Given the description of an element on the screen output the (x, y) to click on. 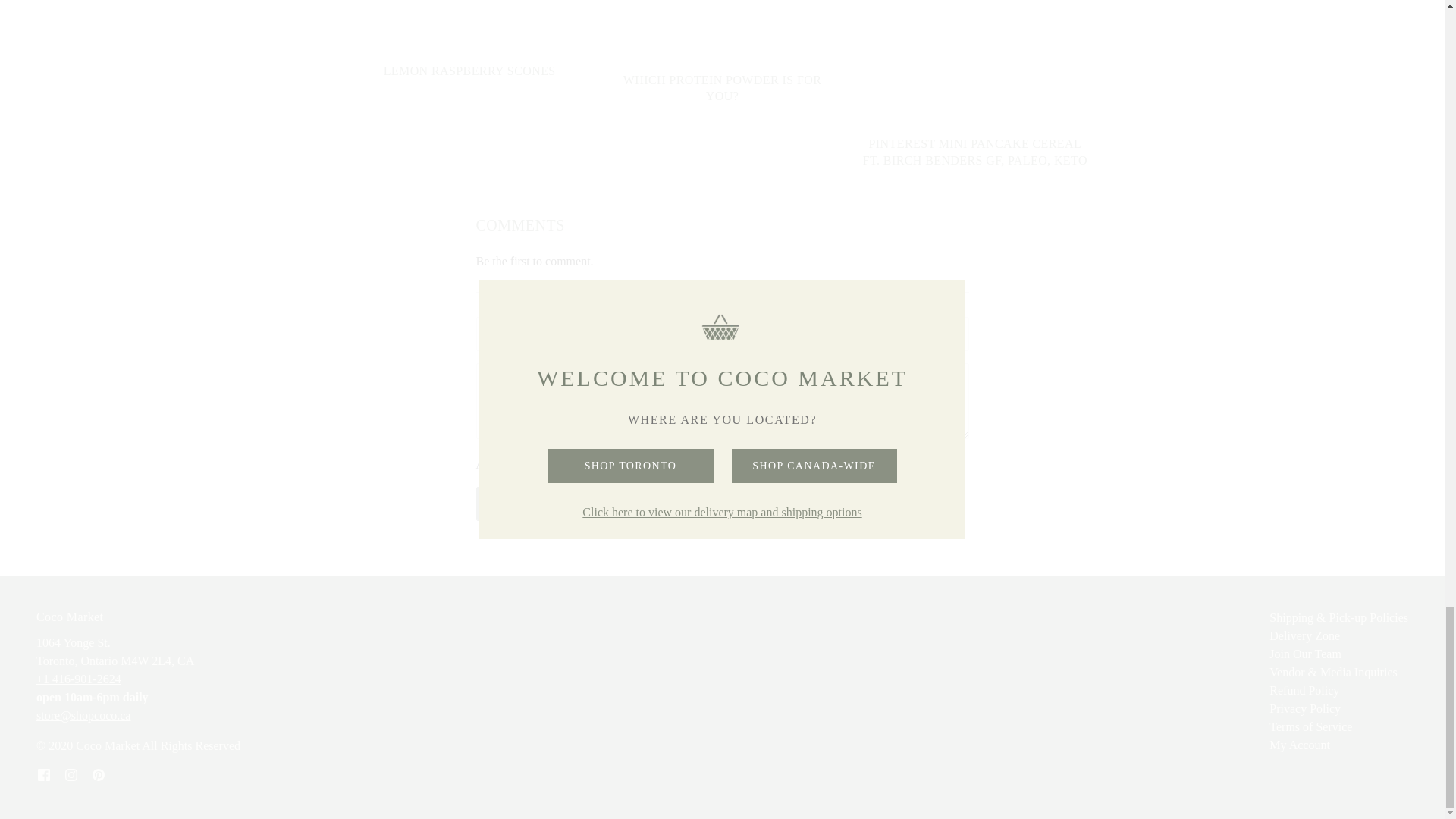
Refund Policy (1304, 689)
Terms of Service (1310, 726)
Privacy Policy (1304, 707)
Join Our Team (1304, 653)
My Account (1299, 744)
Submit Comment (599, 503)
Delivery Zone (1304, 635)
